Given the description of an element on the screen output the (x, y) to click on. 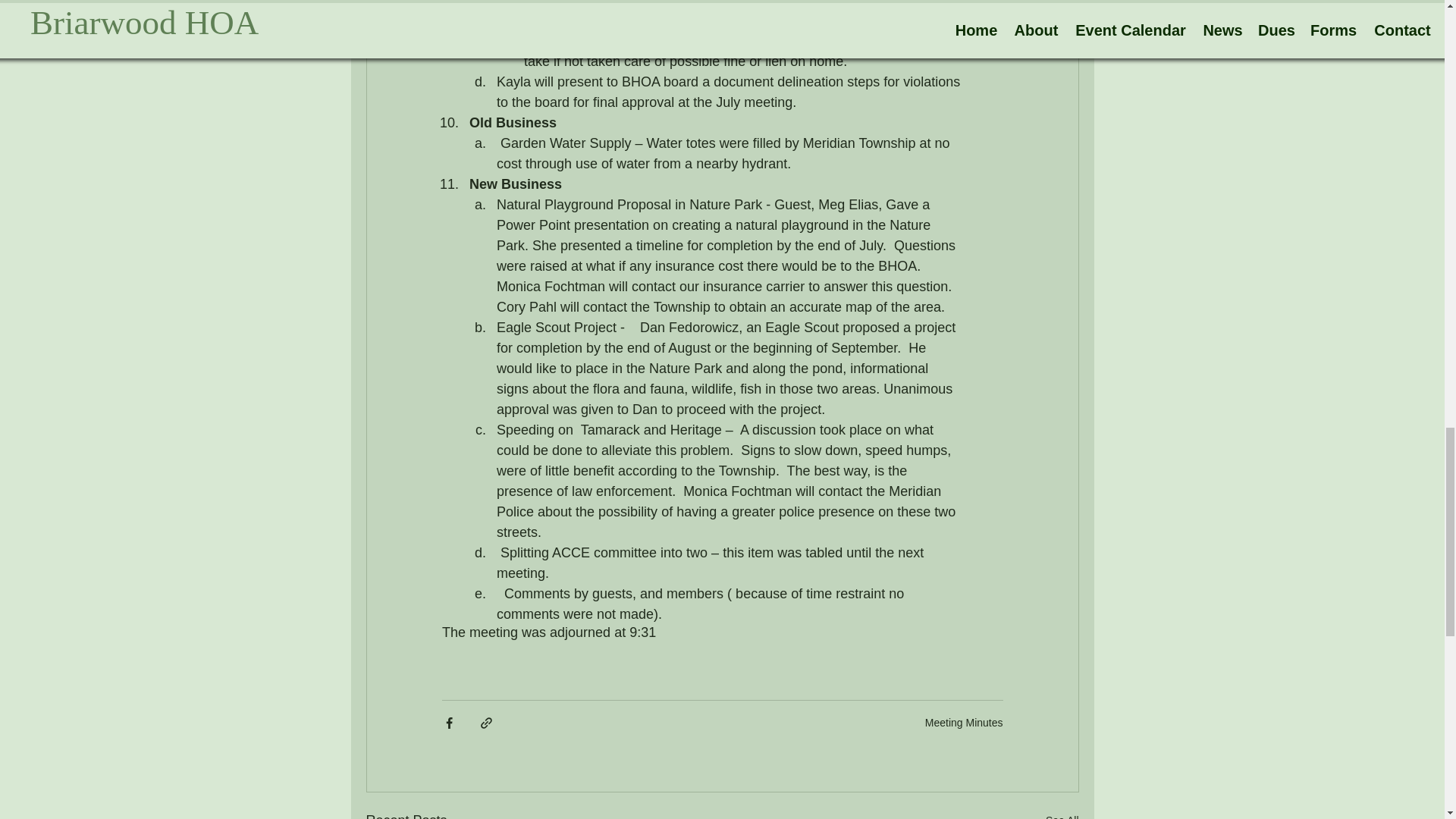
Meeting Minutes (963, 722)
See All (1061, 814)
